Given the description of an element on the screen output the (x, y) to click on. 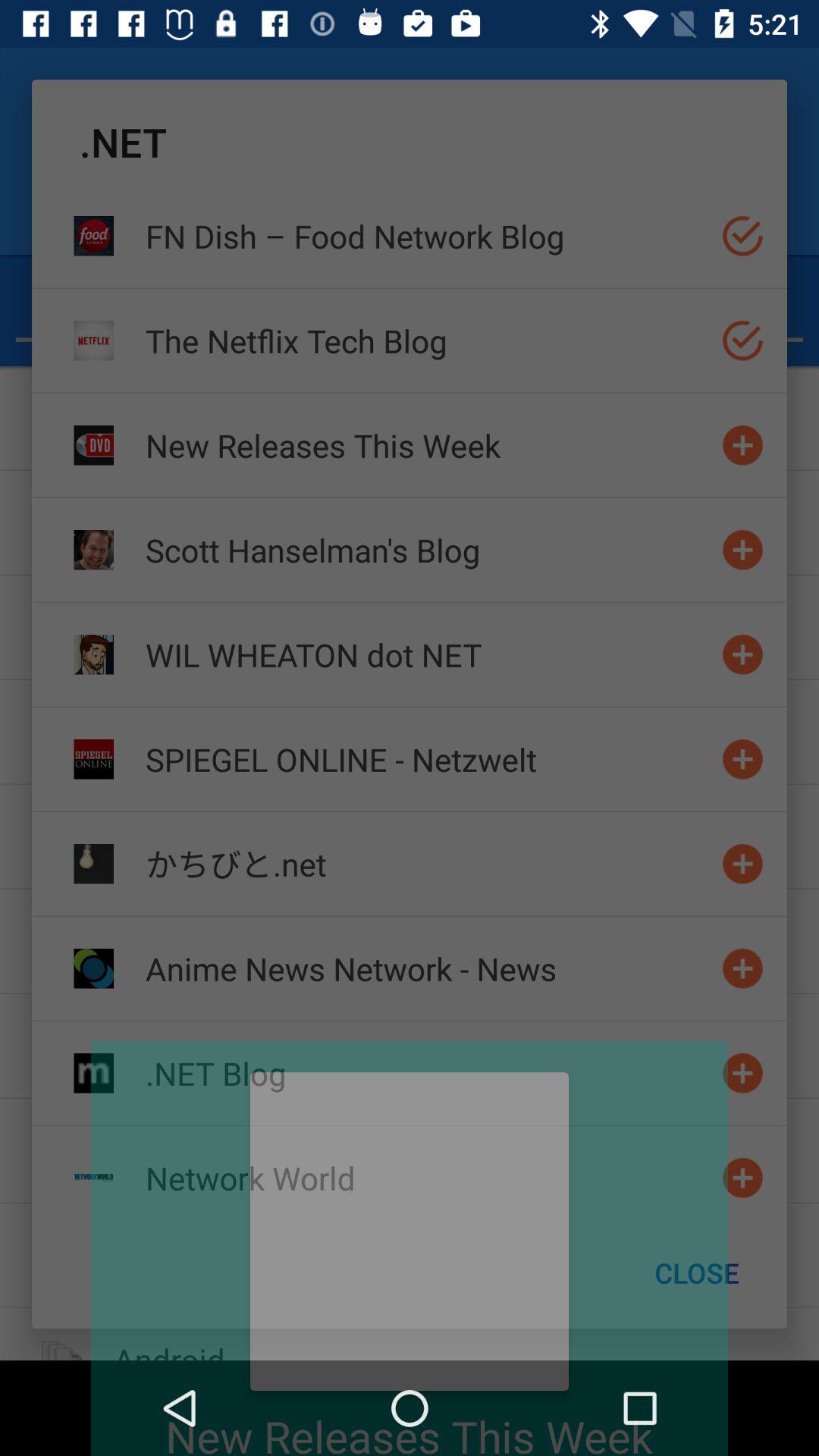
add website to bookmark (742, 759)
